Given the description of an element on the screen output the (x, y) to click on. 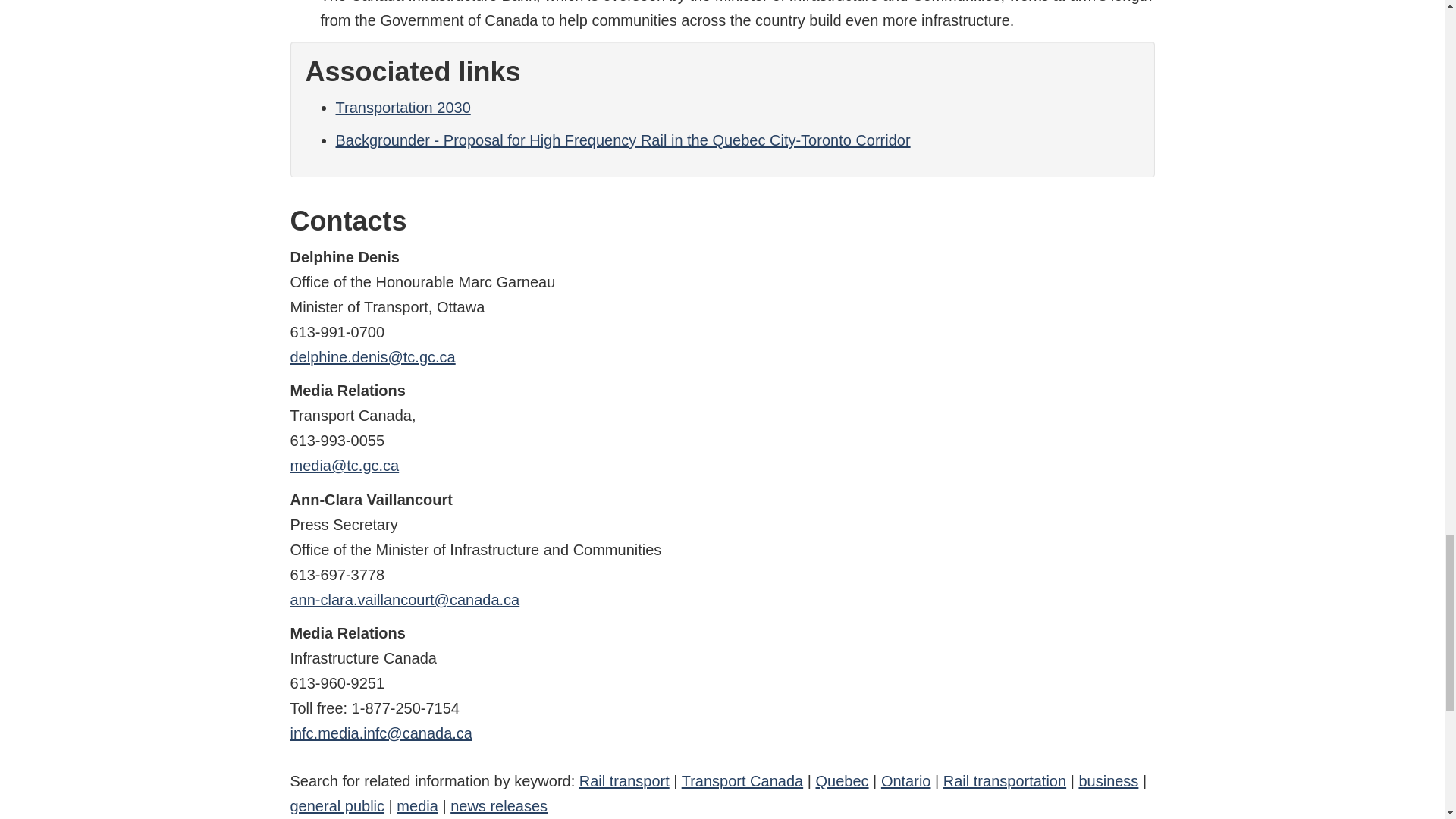
Transportation 2030 (402, 107)
Transport Canada (742, 781)
Quebec (841, 781)
Ontario (905, 781)
Rail transport (624, 781)
business (1108, 781)
general public (336, 805)
news releases (498, 805)
